Given the description of an element on the screen output the (x, y) to click on. 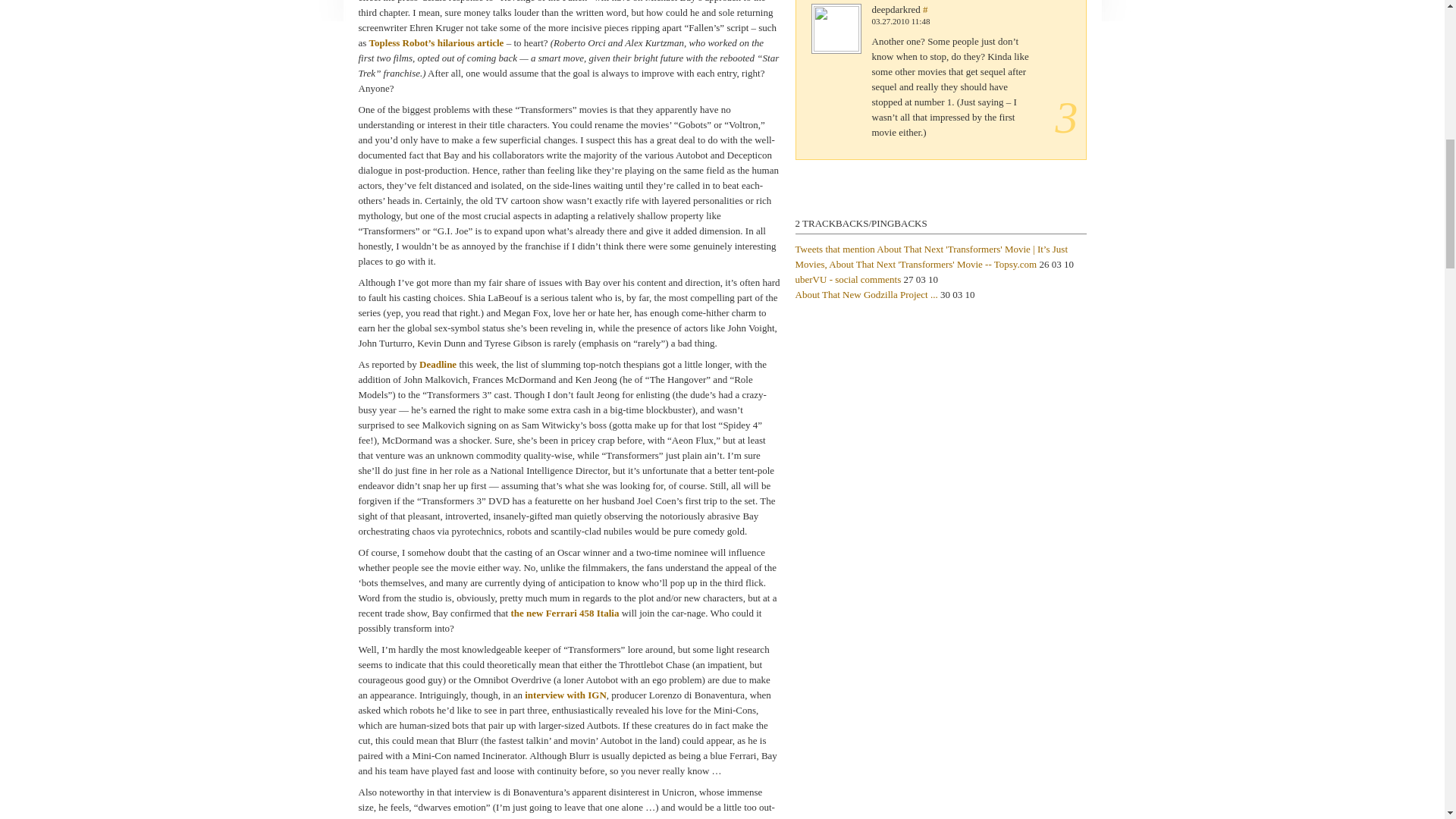
the new Ferrari 458 Italia (564, 613)
Deadline (438, 364)
interview with IGN (565, 695)
